Given the description of an element on the screen output the (x, y) to click on. 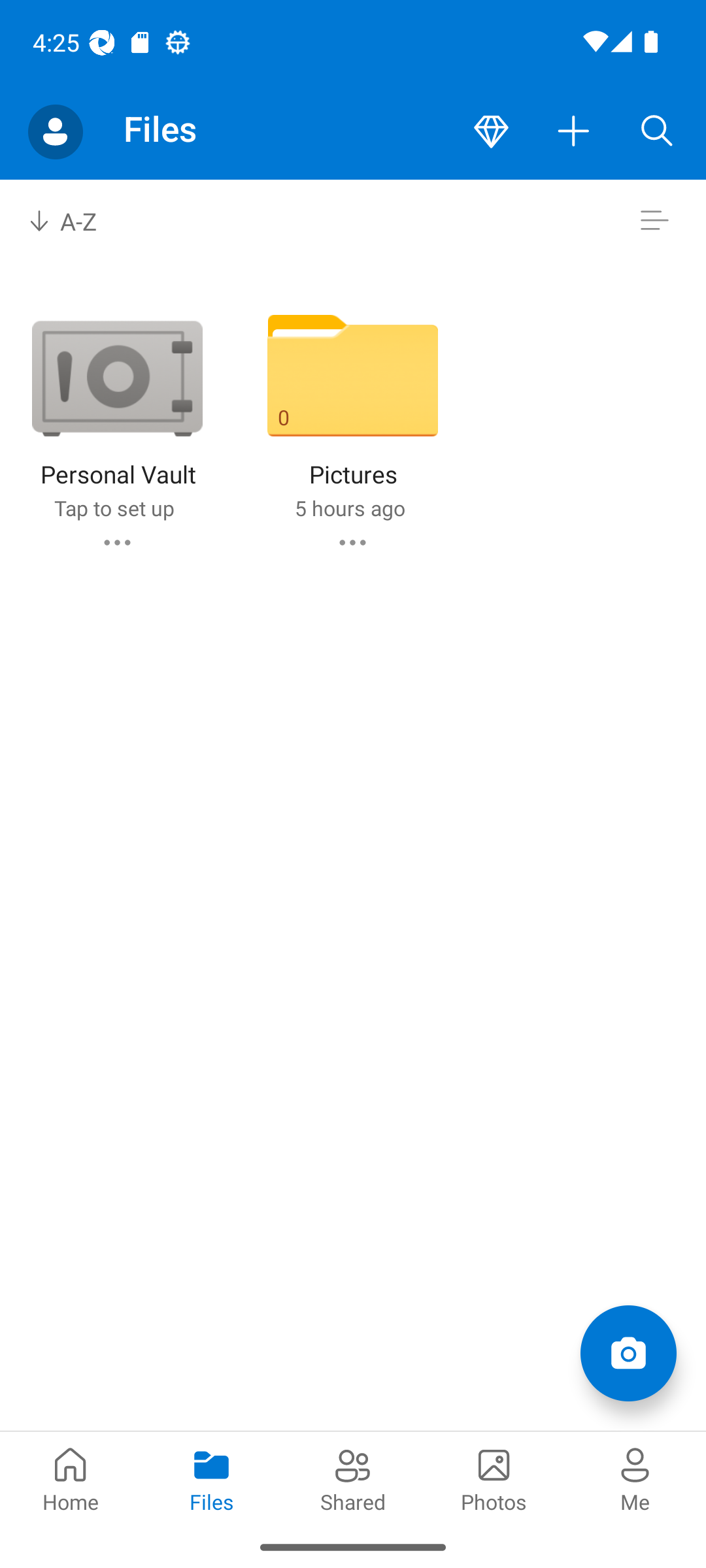
Account switcher (55, 131)
Premium button (491, 131)
More actions button (574, 131)
Search button (656, 131)
A-Z Sort by combo box, sort by name, A to Z (76, 220)
Switch to list view (654, 220)
Tap to set up (113, 507)
5 hours ago (349, 507)
Personal Vault commands (116, 542)
Pictures commands (352, 542)
Add items Scan (628, 1352)
Home pivot Home (70, 1478)
Shared pivot Shared (352, 1478)
Photos pivot Photos (493, 1478)
Me pivot Me (635, 1478)
